Given the description of an element on the screen output the (x, y) to click on. 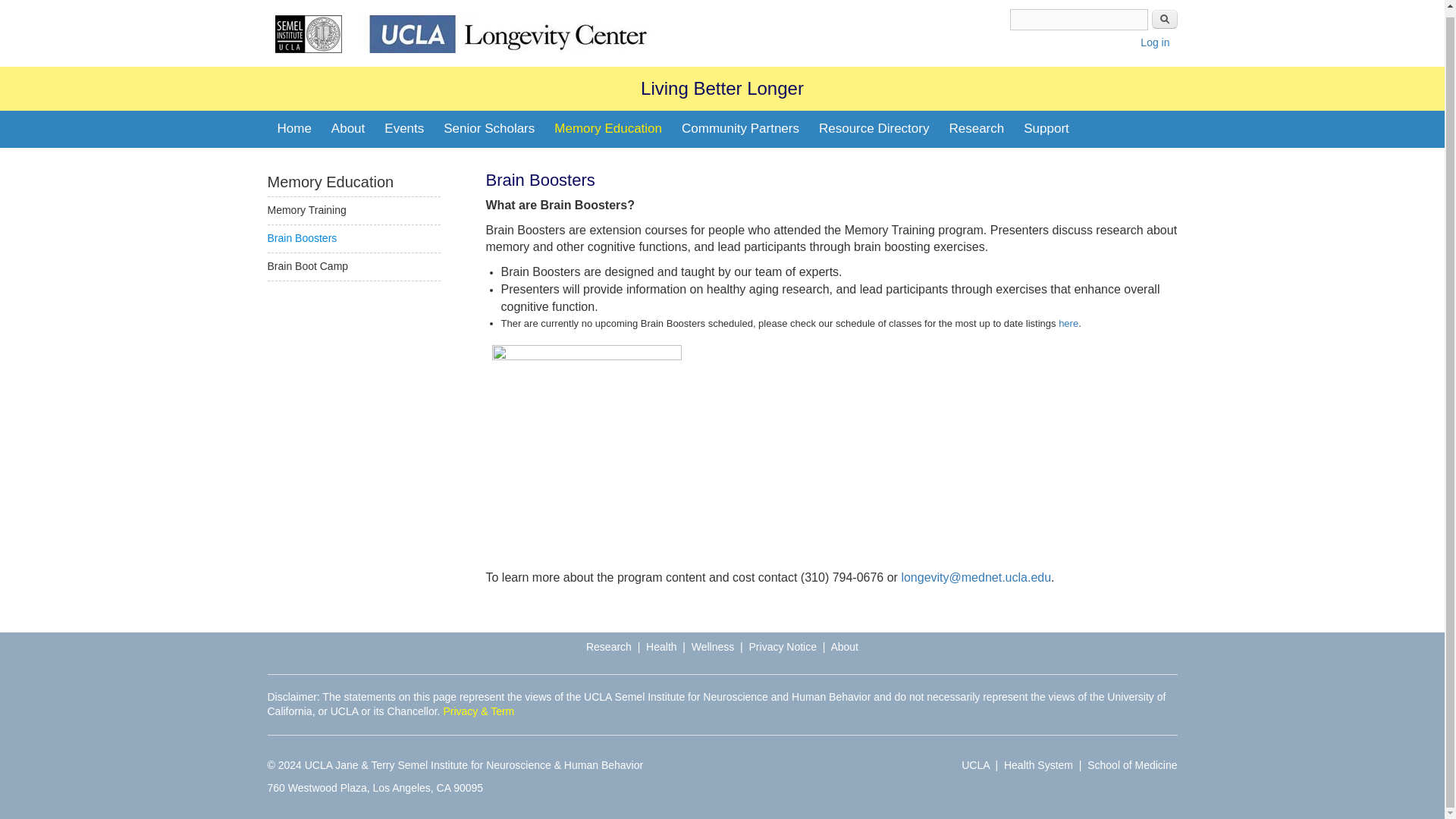
Research (976, 128)
Search (1163, 18)
Senior Scholars (488, 128)
Home (308, 33)
Log in (1154, 42)
UCLA Hospitals and Health Services (1038, 765)
Memory Training (306, 209)
Search (1163, 18)
David Geffen School of Medicine at UCLA (1131, 765)
University of California Los Angeles (975, 765)
